Given the description of an element on the screen output the (x, y) to click on. 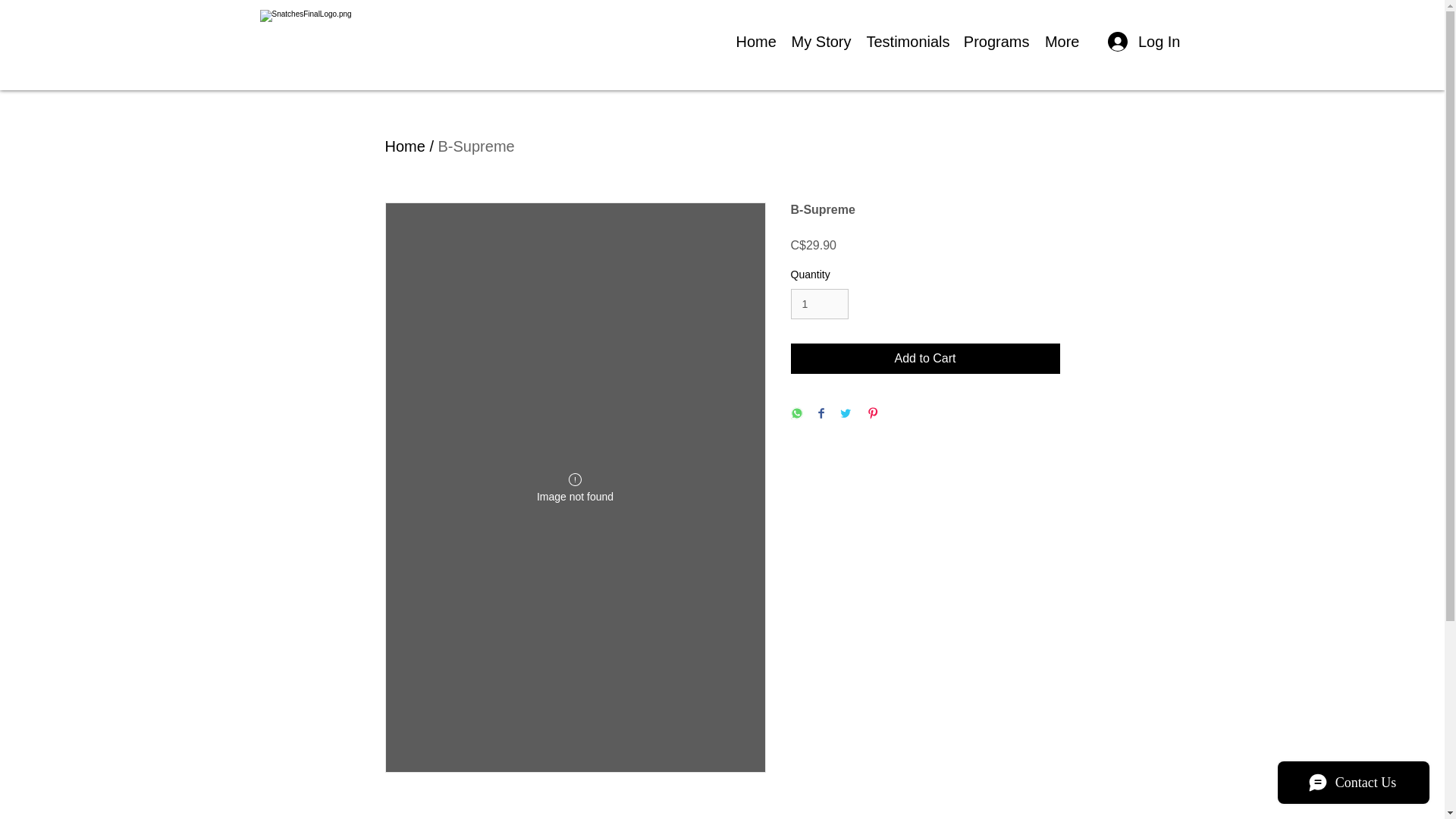
Add to Cart (924, 358)
Home (405, 146)
Programs (995, 41)
Home (755, 41)
1 (818, 304)
My Story (821, 41)
Testimonials (907, 41)
B-Supreme (476, 146)
Log In (1144, 41)
